Given the description of an element on the screen output the (x, y) to click on. 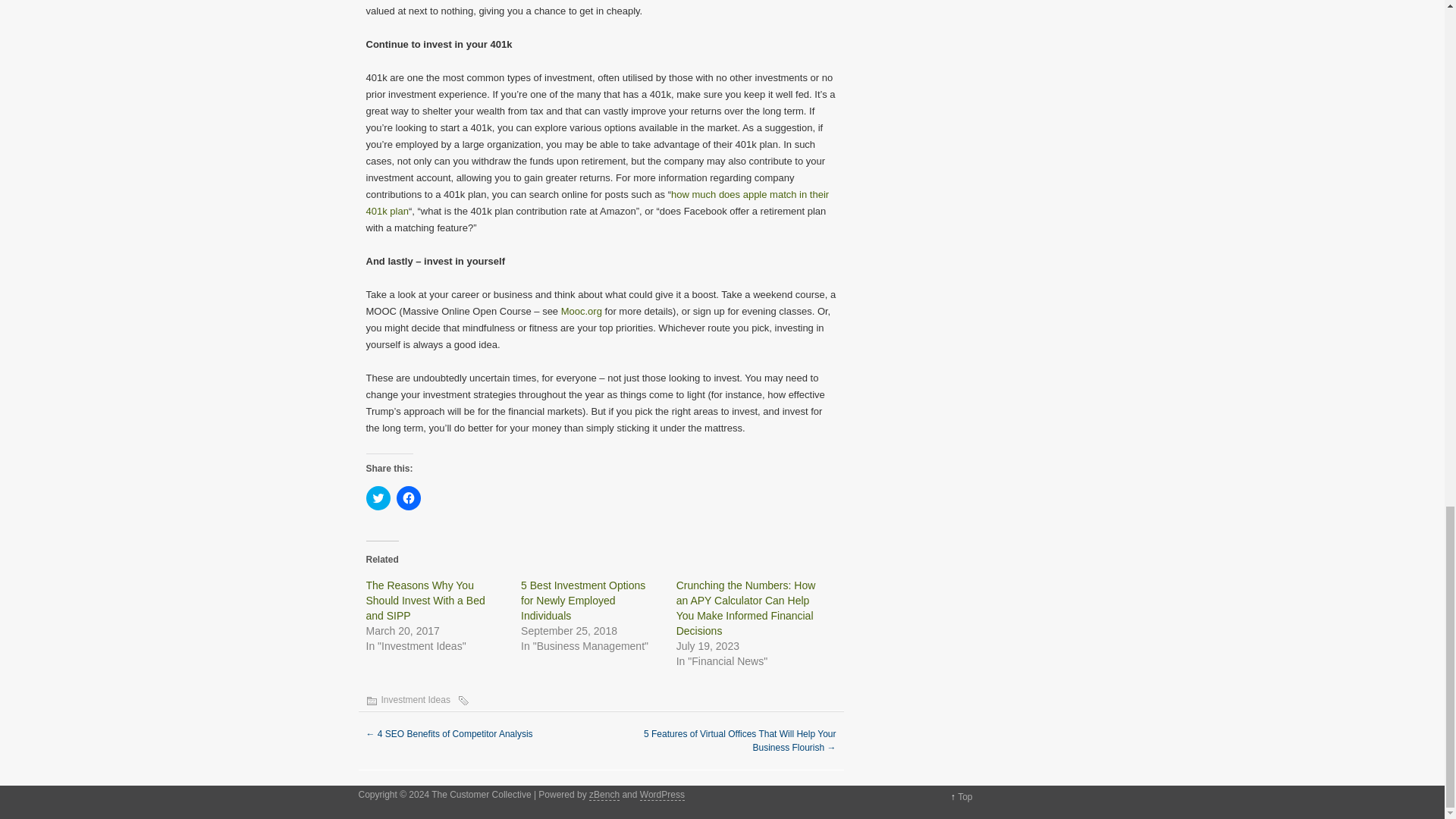
Investment Ideas (414, 699)
Back to top (965, 796)
The Reasons Why You Should Invest With a Bed and SIPP (424, 600)
5 Best Investment Options for Newly Employed Individuals (583, 600)
Mooc.org (581, 310)
Click to share on Facebook (408, 498)
The Reasons Why You Should Invest With a Bed and SIPP (424, 600)
5 Best Investment Options for Newly Employed Individuals (583, 600)
Click to share on Twitter (377, 498)
how much does apple match in their 401k plan (596, 203)
